Given the description of an element on the screen output the (x, y) to click on. 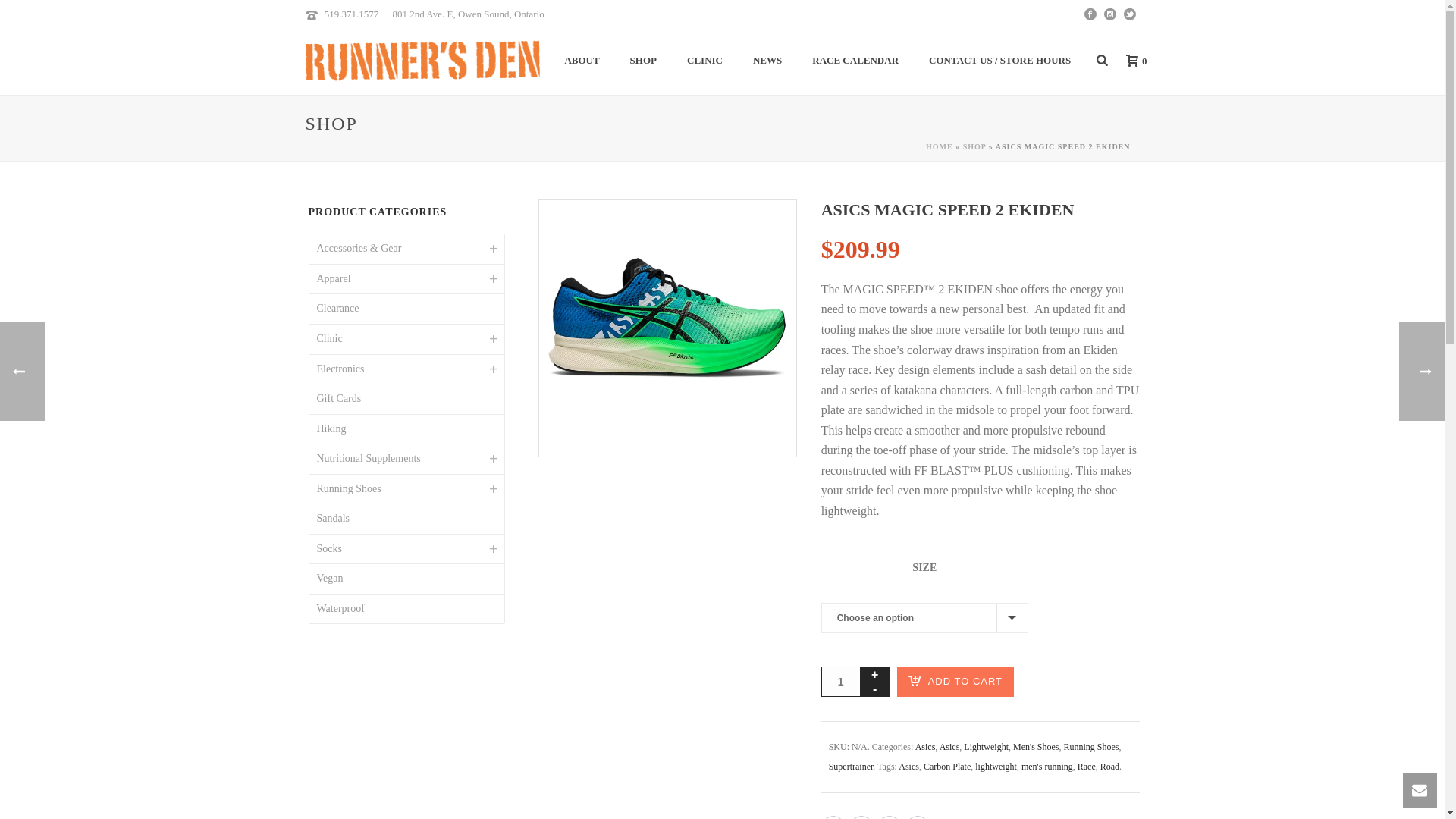
Qty (840, 681)
ABOUT (581, 61)
Lightweight (986, 747)
Asics (925, 747)
Running Shoes (1091, 747)
SHOP (642, 61)
Asics (949, 747)
HOME (939, 146)
CLINIC (704, 61)
NEWS (767, 61)
